Given the description of an element on the screen output the (x, y) to click on. 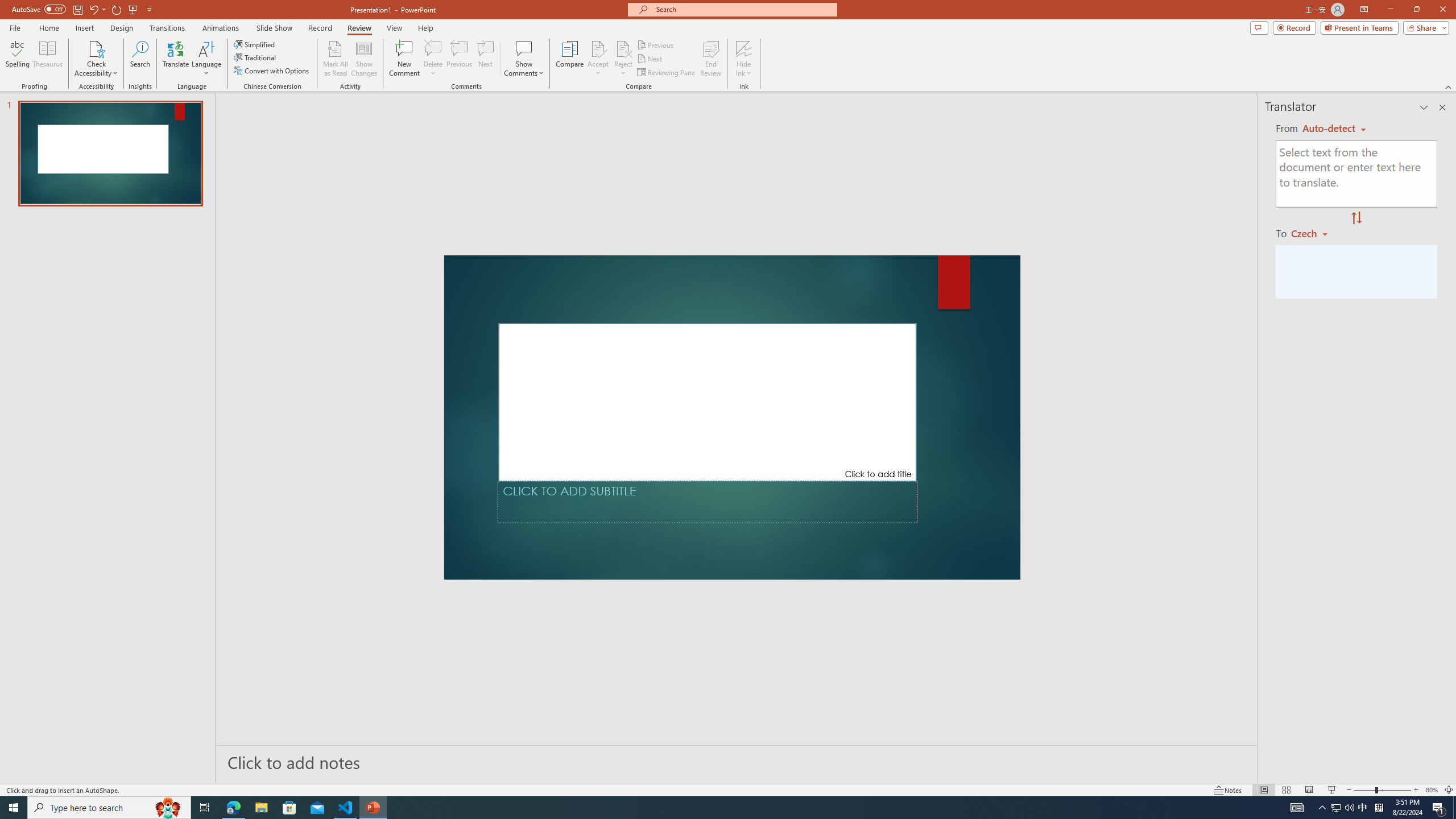
Language (206, 58)
Swap "from" and "to" languages. (1355, 218)
Accept Change (598, 48)
Auto-detect (1334, 128)
Traditional (255, 56)
